Given the description of an element on the screen output the (x, y) to click on. 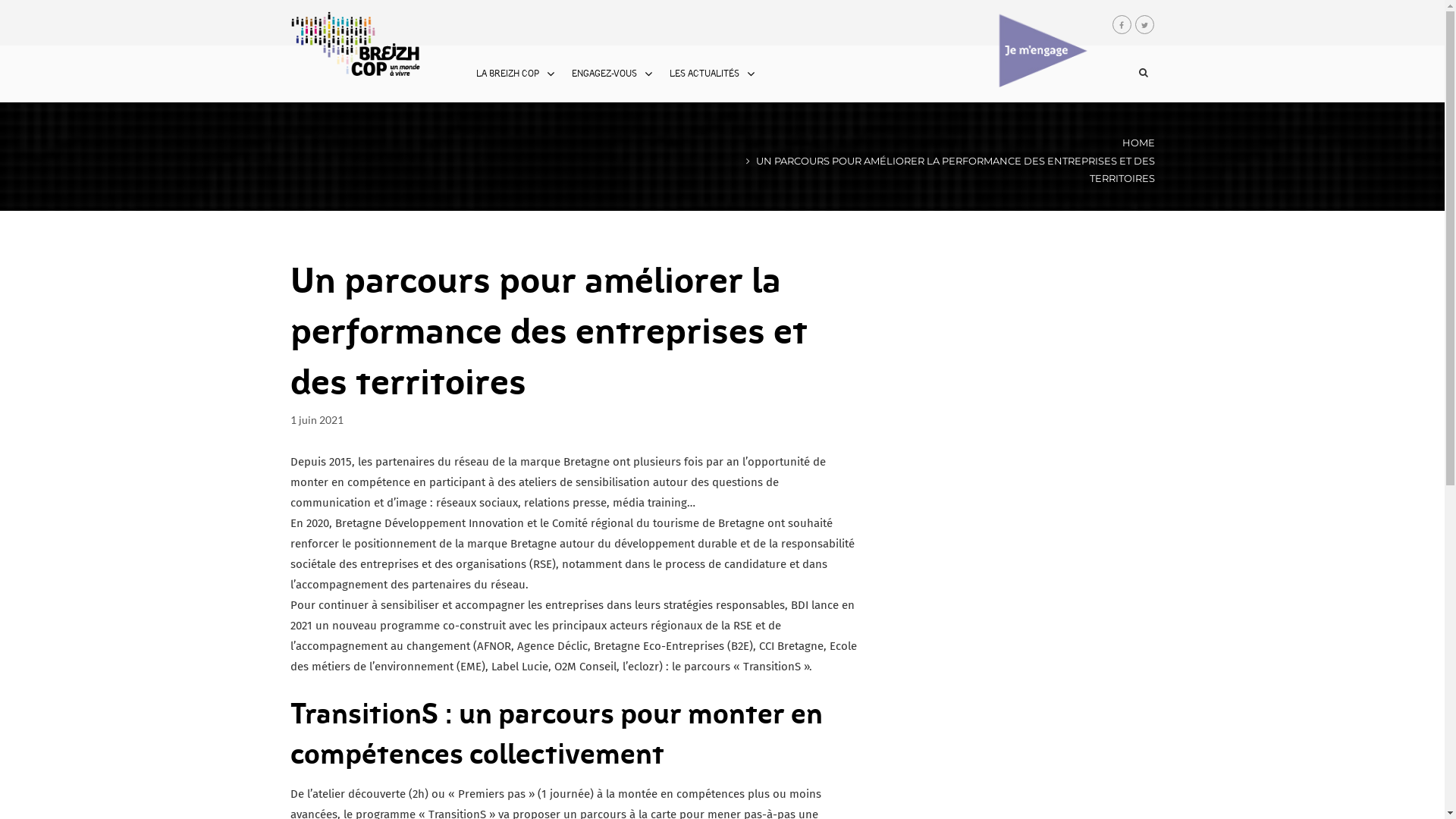
LA BREIZH COP Element type: text (507, 73)
Je m'engage Element type: text (1042, 49)
search Element type: text (1116, 149)
Breizhcop Element type: text (355, 49)
HOME Element type: text (1138, 142)
ENGAGEZ-VOUS Element type: text (604, 73)
